Given the description of an element on the screen output the (x, y) to click on. 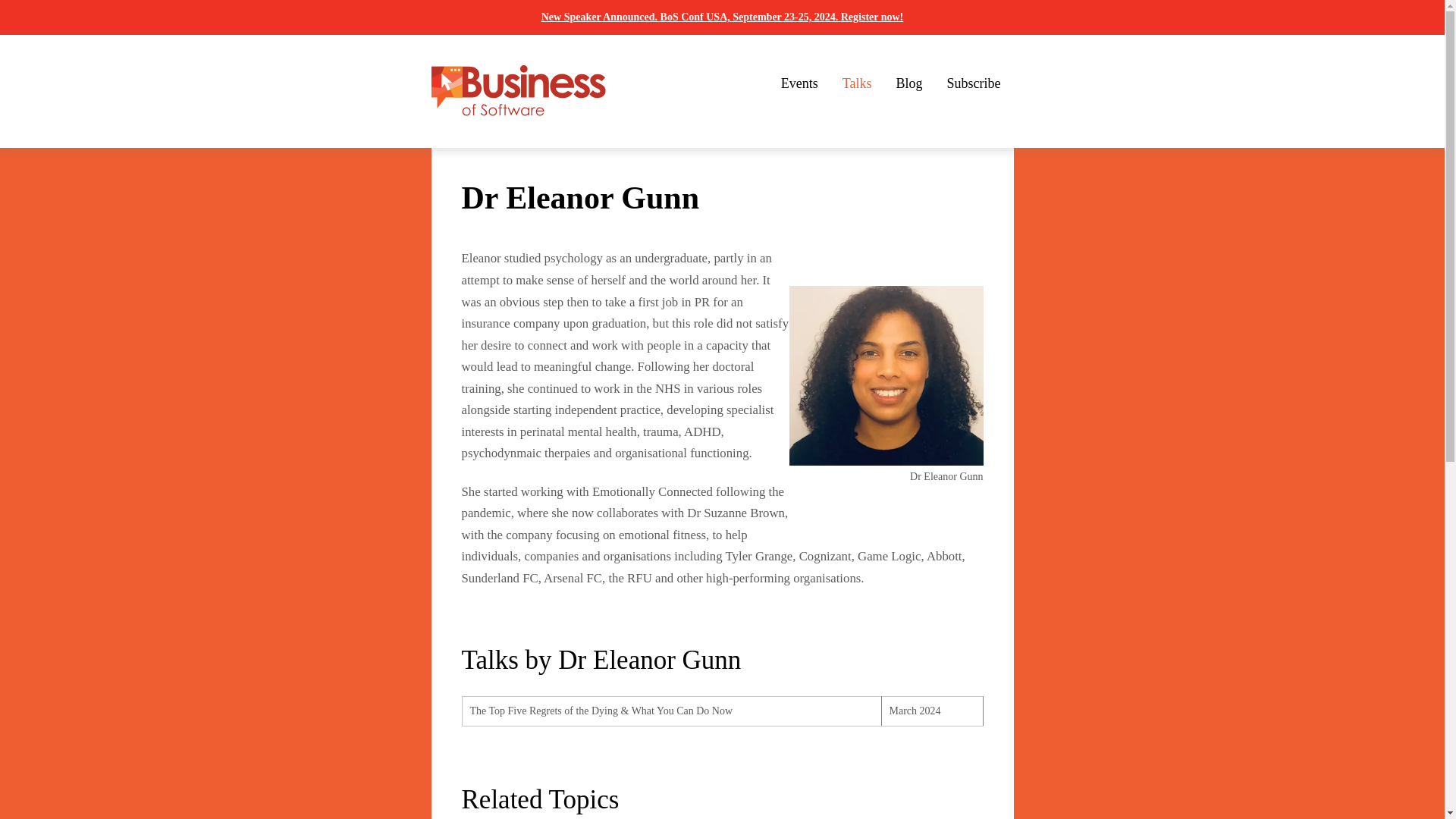
Blog (908, 83)
Talks (857, 83)
Events (799, 83)
Subscribe (973, 83)
